Given the description of an element on the screen output the (x, y) to click on. 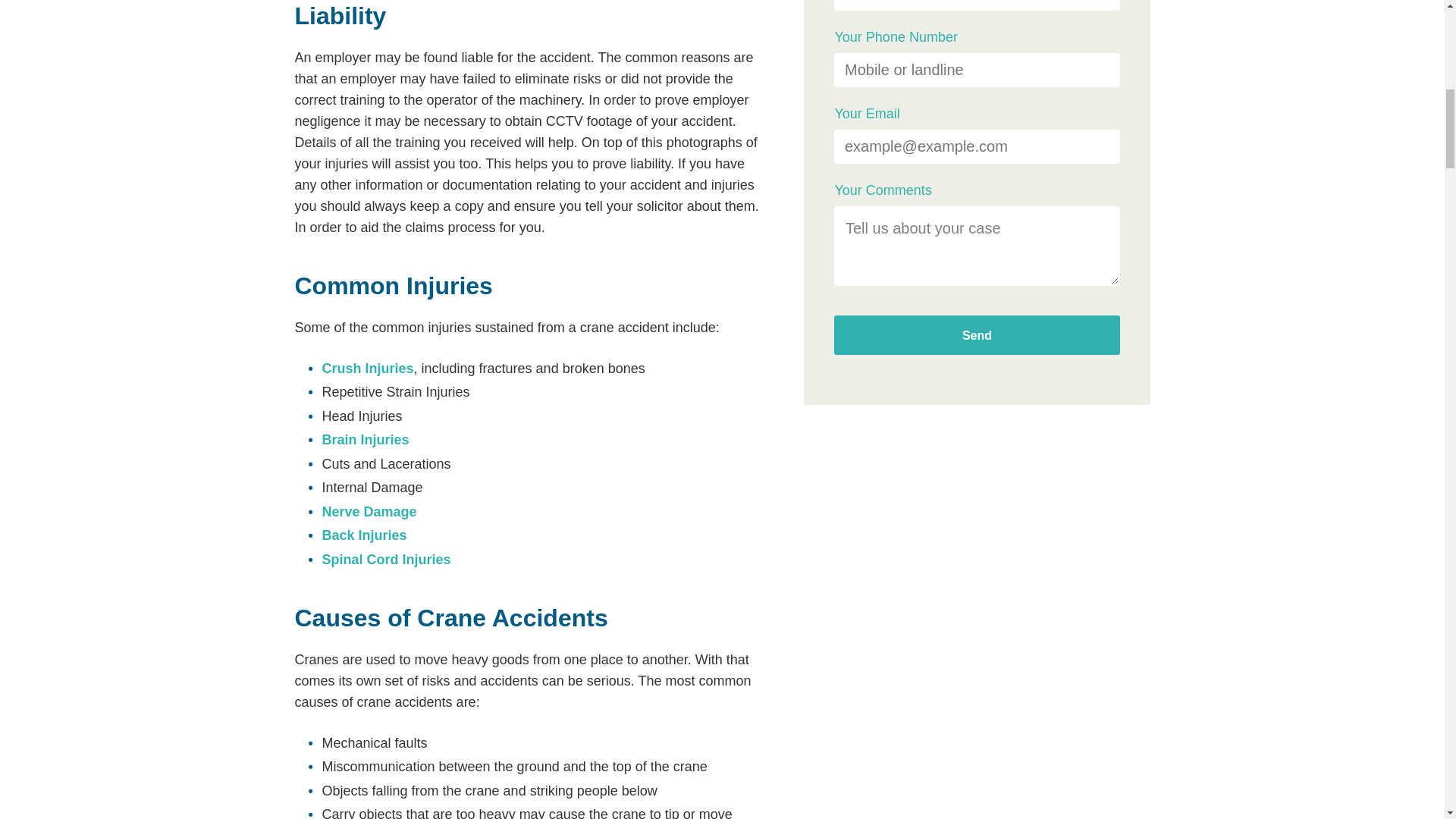
Send (976, 334)
Crush Injuries (367, 368)
Back Injuries (363, 534)
Send (976, 334)
Spinal Cord Injuries (385, 559)
Brain Injuries (365, 439)
Nerve Damage (368, 511)
